Given the description of an element on the screen output the (x, y) to click on. 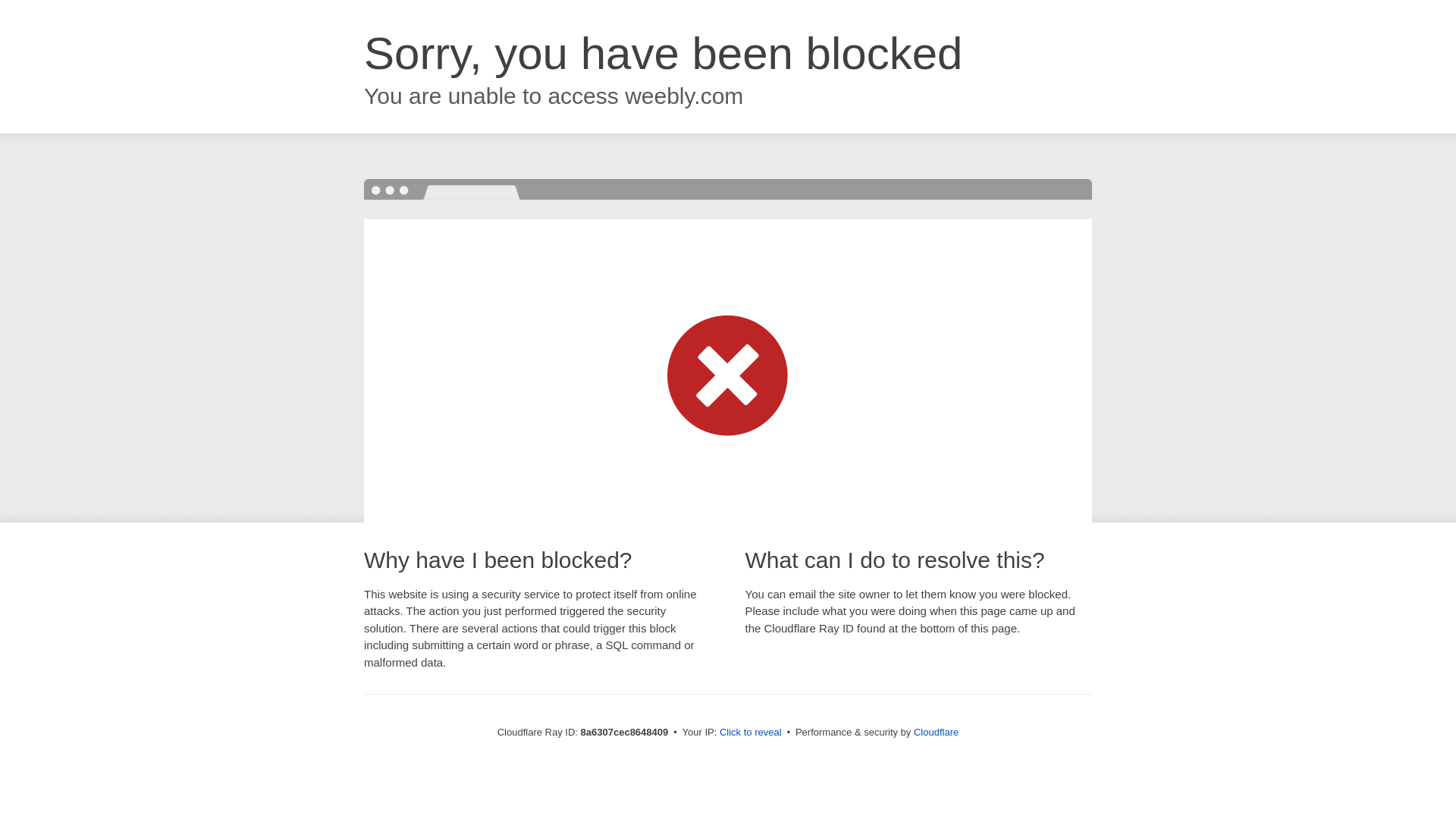
Click to reveal (750, 732)
Cloudflare (936, 731)
